Given the description of an element on the screen output the (x, y) to click on. 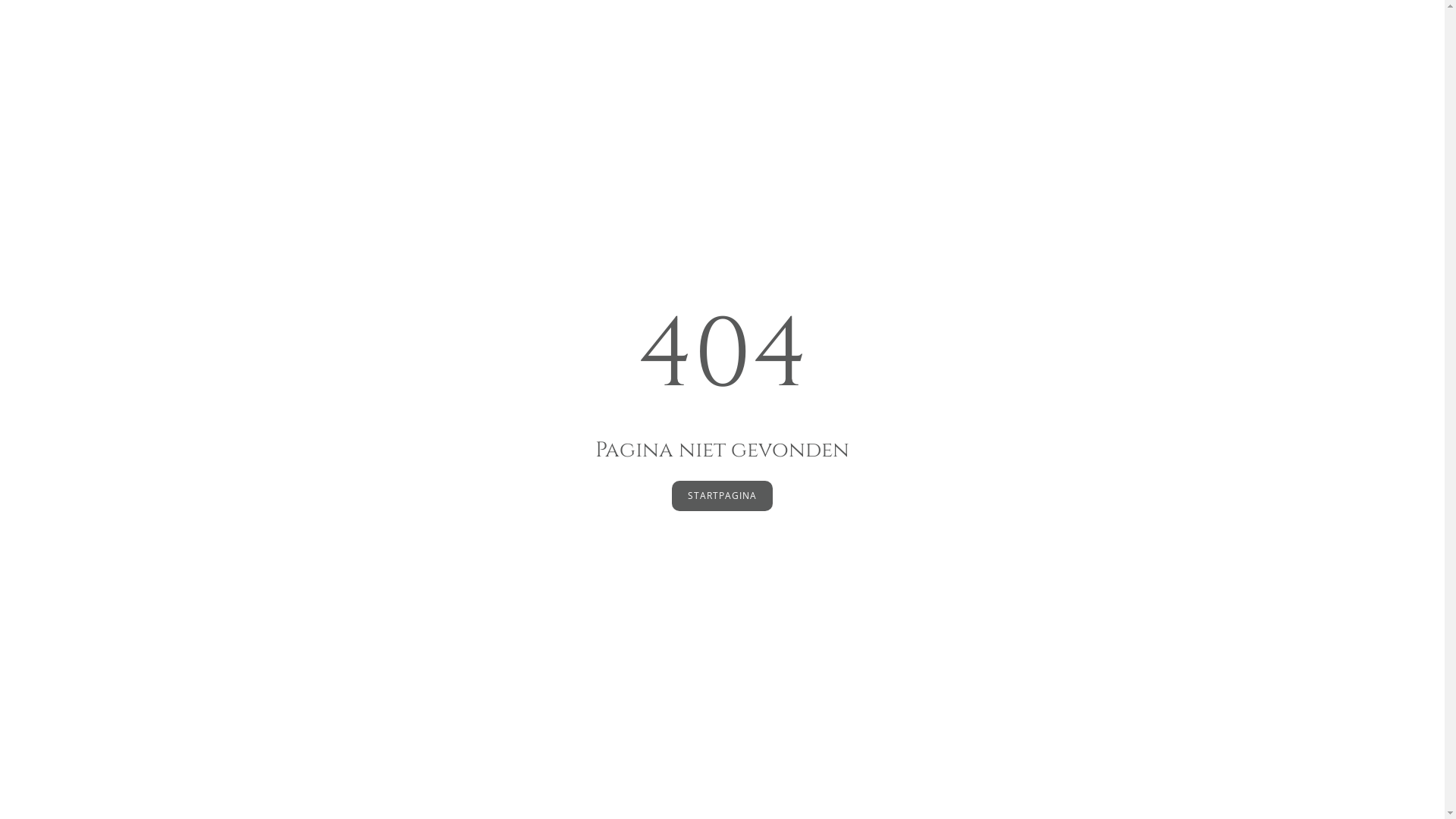
STARTPAGINA Element type: text (721, 495)
